Given the description of an element on the screen output the (x, y) to click on. 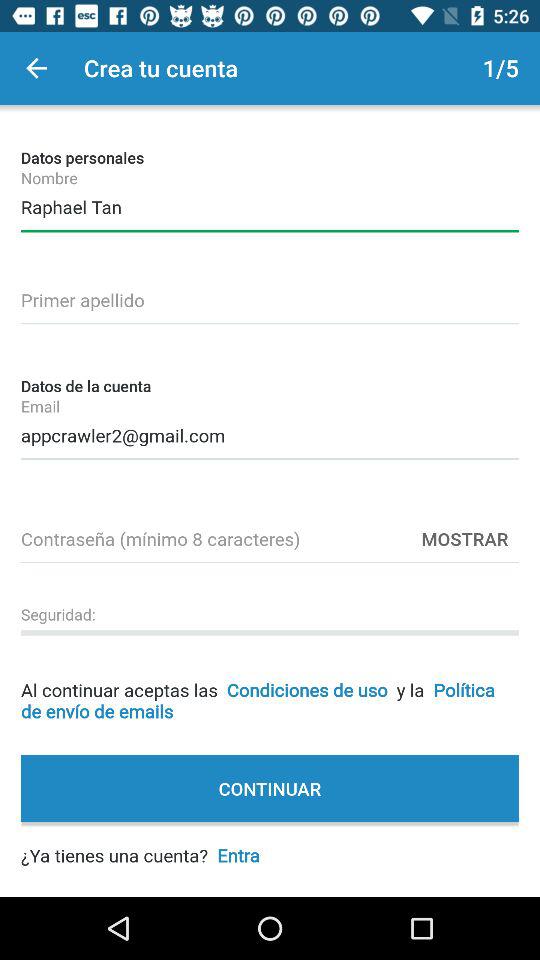
launch mostrar icon (465, 538)
